Given the description of an element on the screen output the (x, y) to click on. 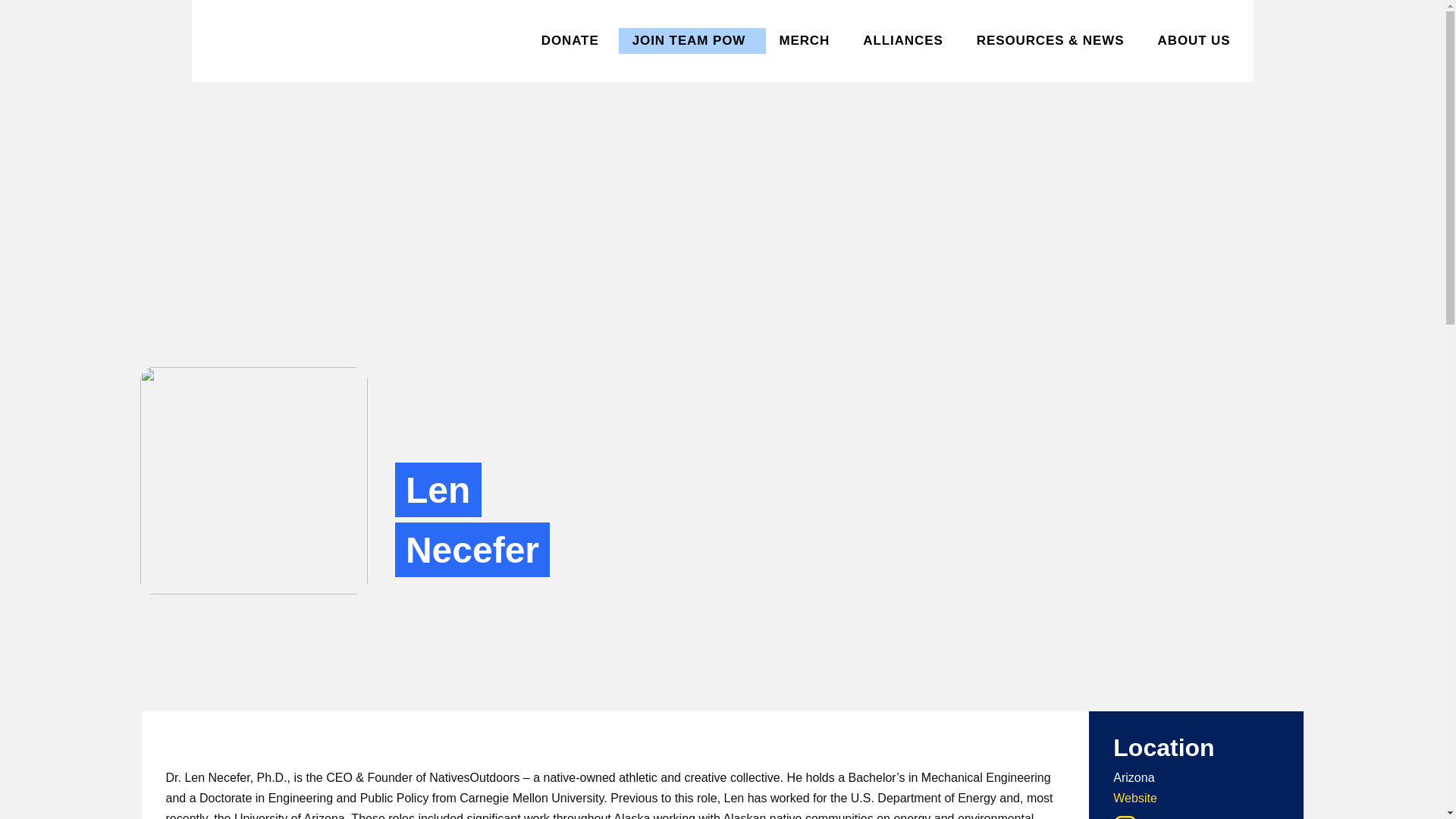
JOIN TEAM POW (688, 58)
MERCH (803, 58)
ALLIANCES (902, 58)
Website (1135, 797)
DONATE (569, 58)
ABOUT US (1193, 58)
